Given the description of an element on the screen output the (x, y) to click on. 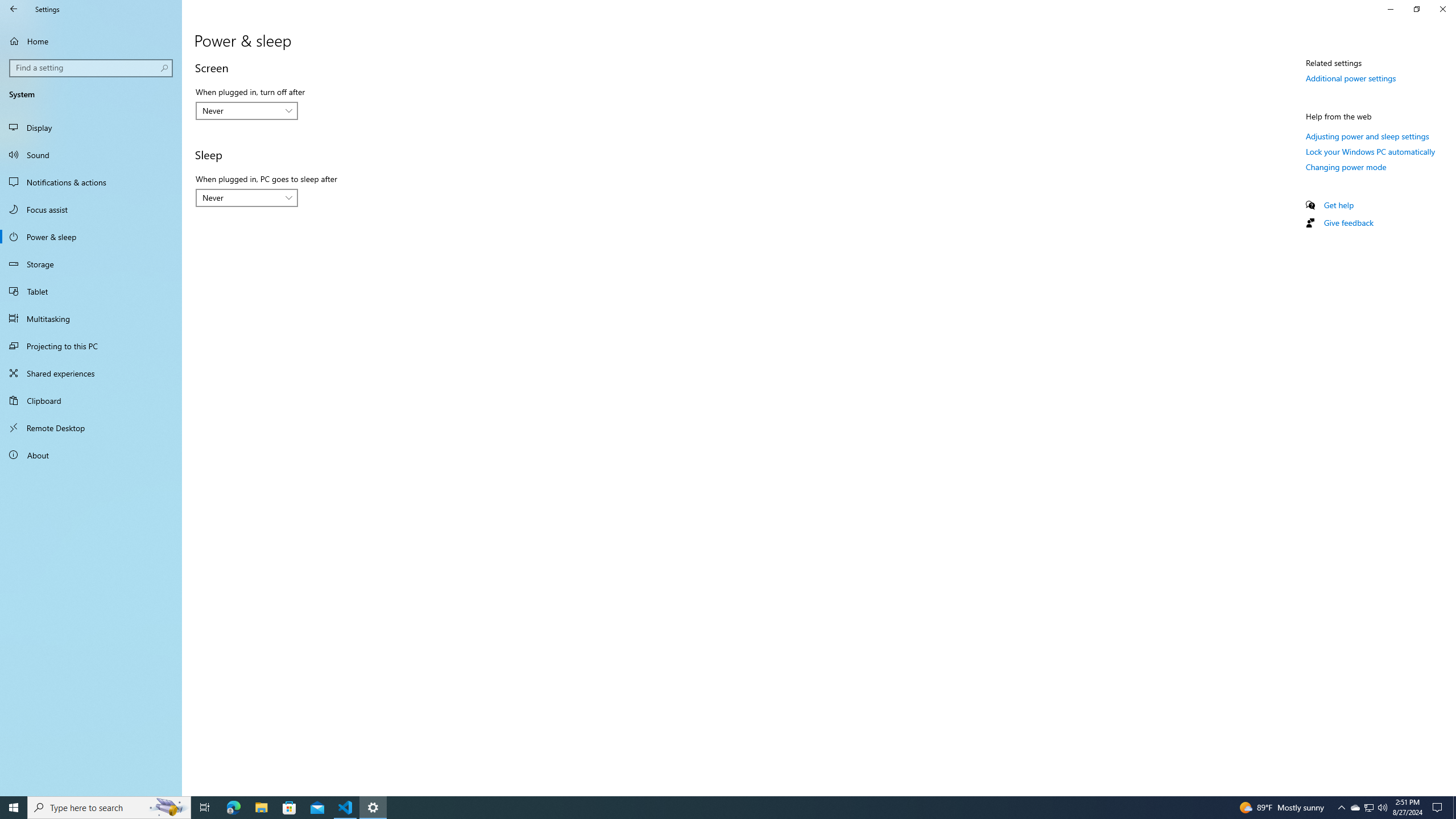
Changing power mode (1346, 166)
Display (91, 126)
